Given the description of an element on the screen output the (x, y) to click on. 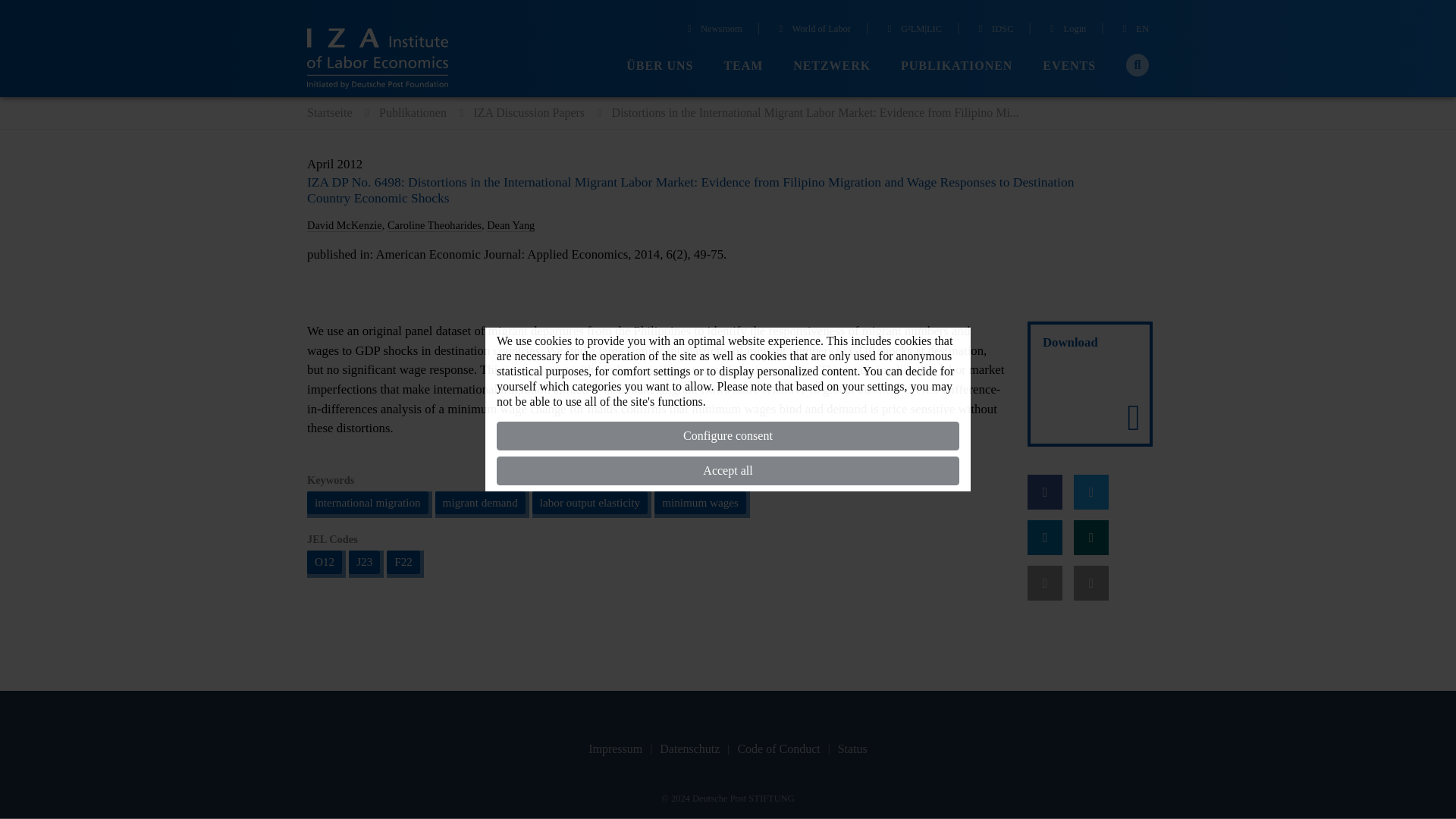
IDSC (993, 30)
World of Labor (812, 30)
EN (1133, 30)
TEAM (742, 66)
NETZWERK (831, 66)
EVENTS (1069, 66)
PUBLIKATIONEN (956, 66)
Newsroom (712, 30)
Login (1066, 30)
